Given the description of an element on the screen output the (x, y) to click on. 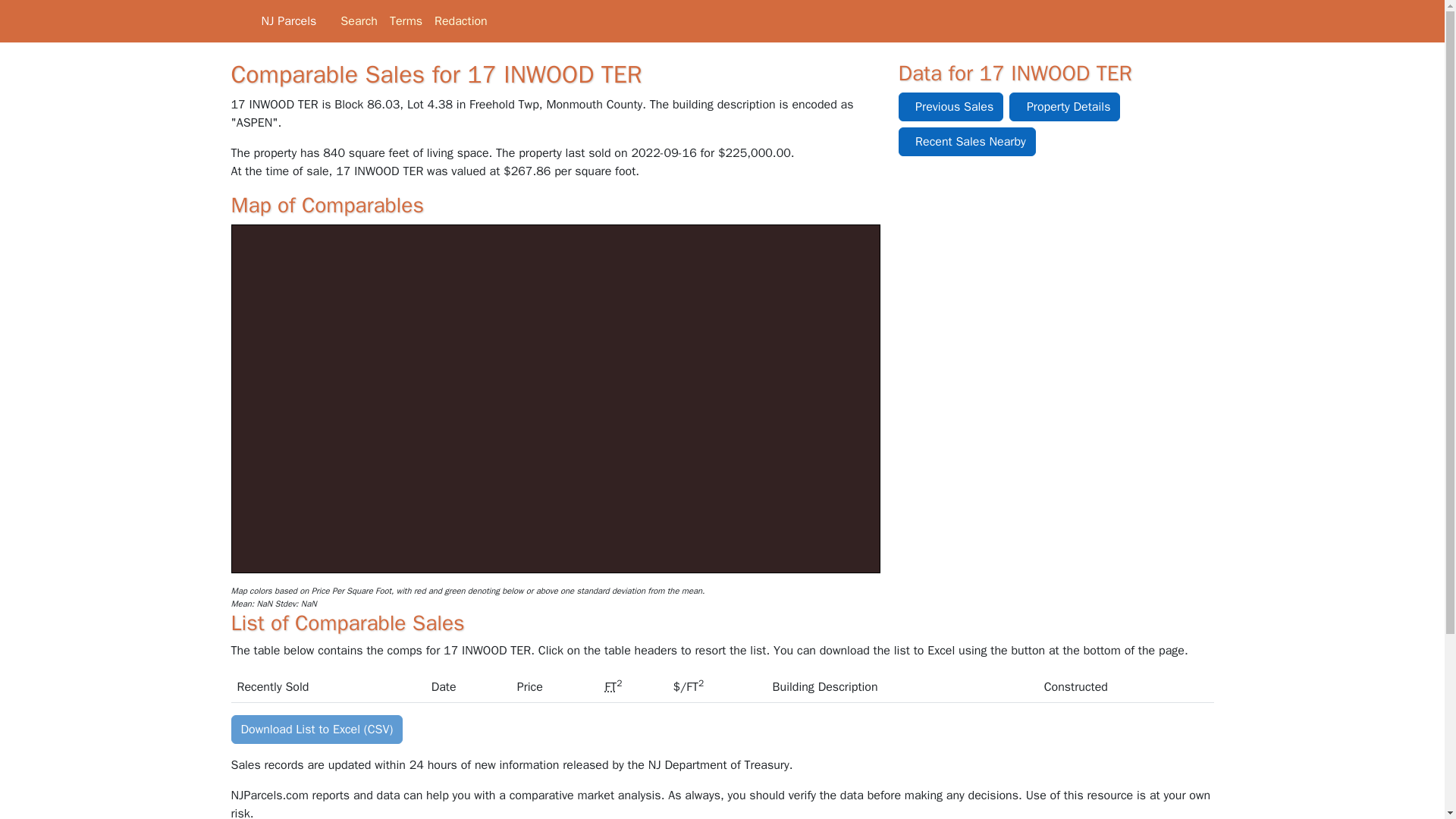
  Recent Sales Nearby (966, 141)
  Previous Sales (950, 106)
Redaction (460, 20)
Terms (406, 20)
Search (359, 20)
NJ Parcels (272, 21)
  Property Details (1064, 106)
